Given the description of an element on the screen output the (x, y) to click on. 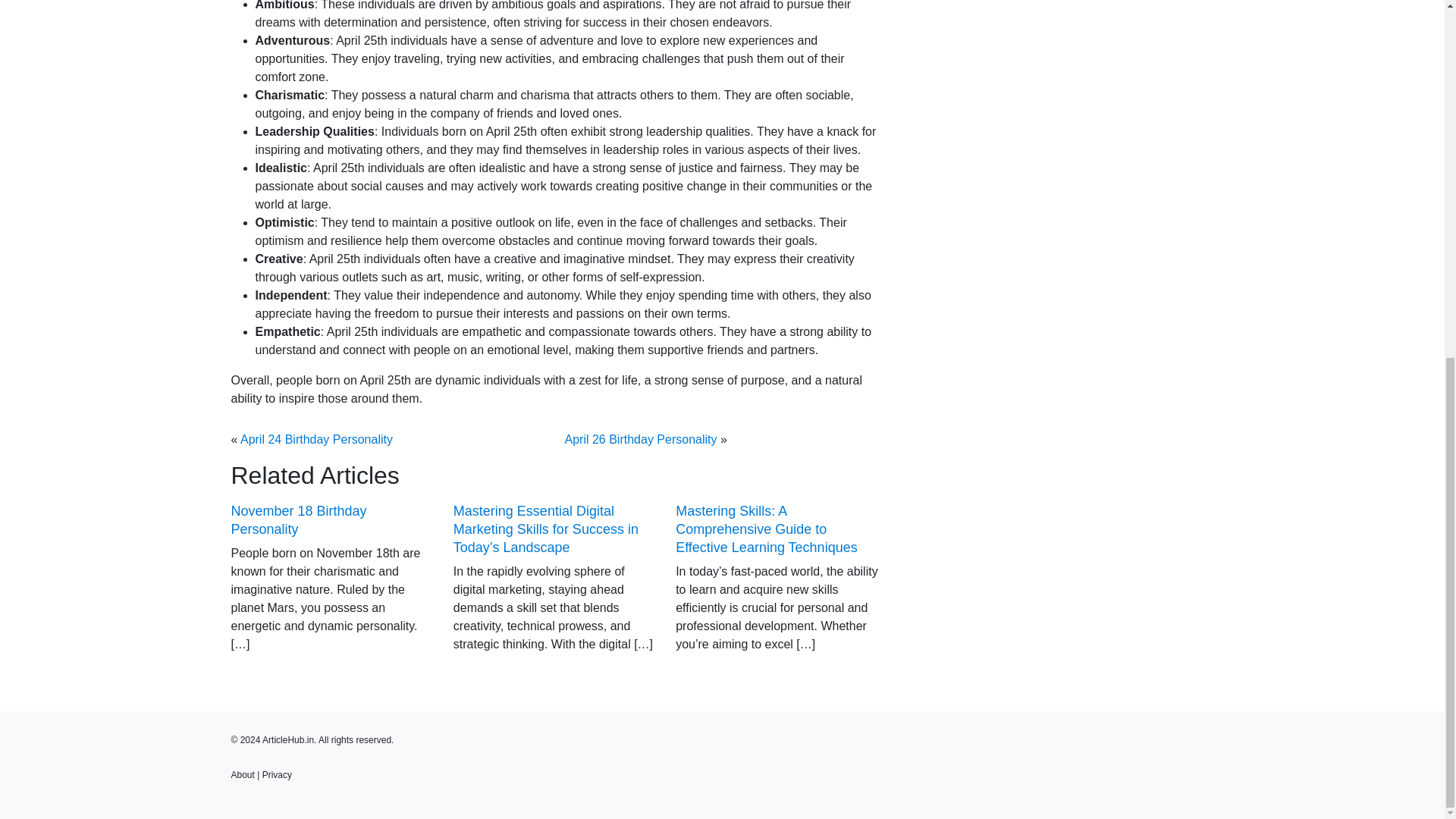
November 18 Birthday Personality (298, 520)
Privacy (277, 774)
April 26 Birthday Personality (640, 439)
About (241, 774)
April 24 Birthday Personality (316, 439)
